Given the description of an element on the screen output the (x, y) to click on. 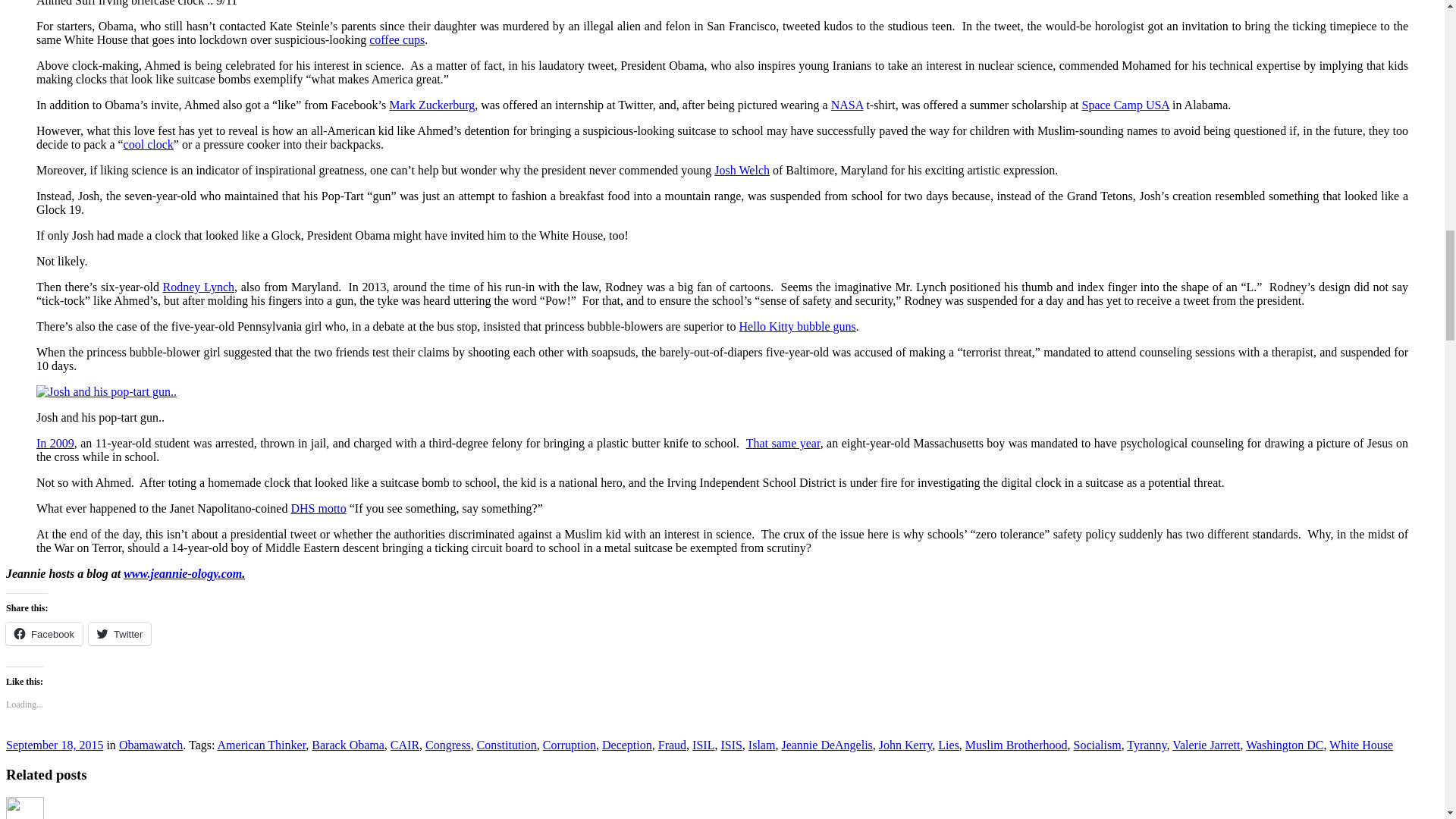
coffee cups (397, 39)
Space Camp USA (1125, 104)
Josh Welch (742, 169)
Click to share on Twitter (119, 633)
cool clock (148, 144)
NASA (847, 104)
Mark Zuckerburg (431, 104)
Click to share on Facebook (43, 633)
Hello Kitty bubble guns (797, 326)
Rodney Lynch (198, 286)
